Given the description of an element on the screen output the (x, y) to click on. 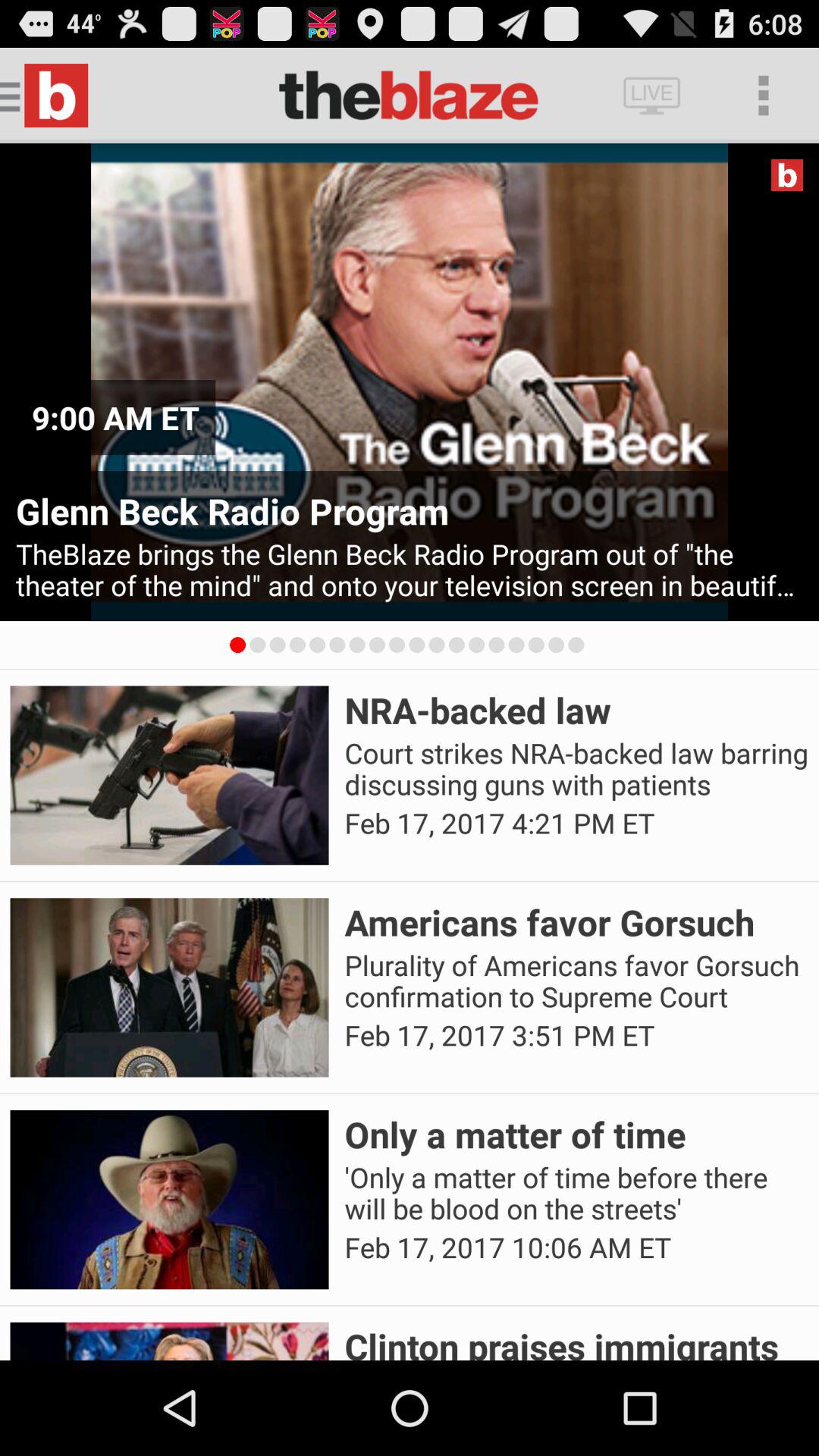
flip until plurality of americans app (576, 981)
